Given the description of an element on the screen output the (x, y) to click on. 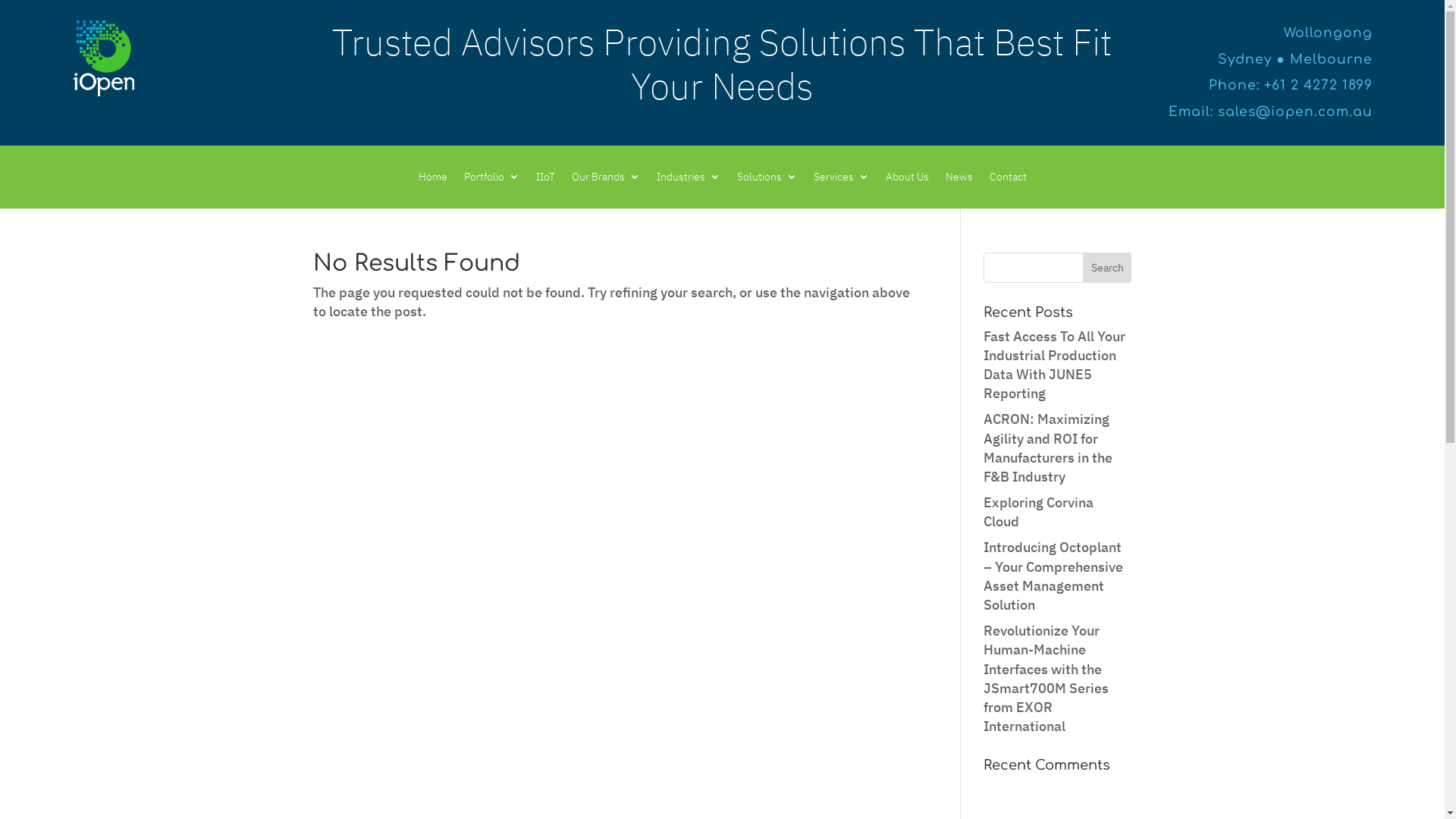
sales@iopen.com.au Element type: text (1294, 111)
Phone: +61 2 4272 1899 Element type: text (1290, 85)
Solutions Element type: text (767, 179)
News Element type: text (958, 179)
Search Element type: text (1107, 267)
Services Element type: text (840, 179)
Contact Element type: text (1007, 179)
Industries Element type: text (688, 179)
About Us Element type: text (906, 179)
Portfolio Element type: text (491, 179)
Our Brands Element type: text (605, 179)
Exploring Corvina Cloud Element type: text (1038, 511)
IIoT Element type: text (544, 179)
Home Element type: text (432, 179)
